Given the description of an element on the screen output the (x, y) to click on. 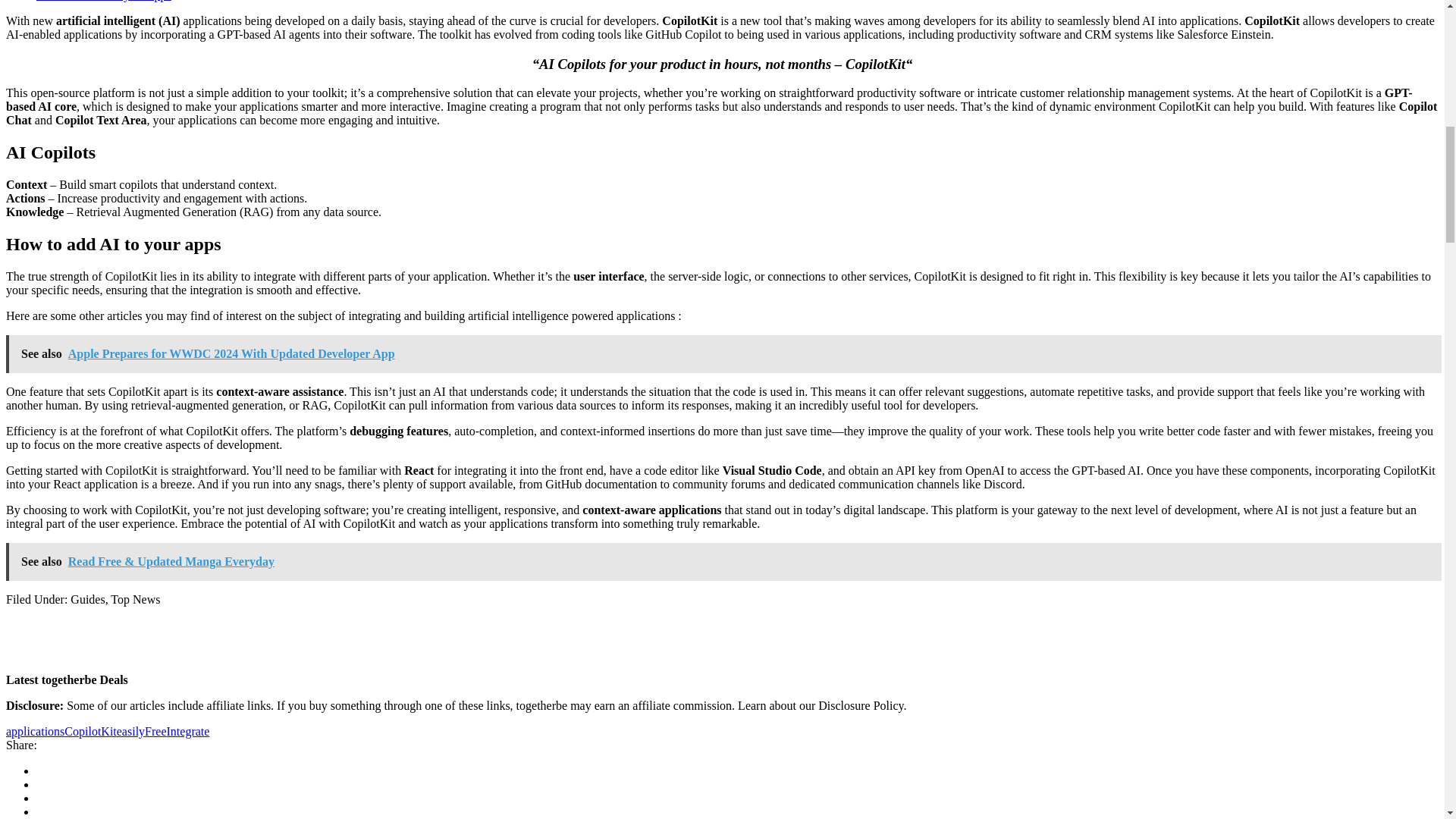
How to add AI to your apps (103, 0)
applications (34, 730)
CopilotKit (90, 730)
